Given the description of an element on the screen output the (x, y) to click on. 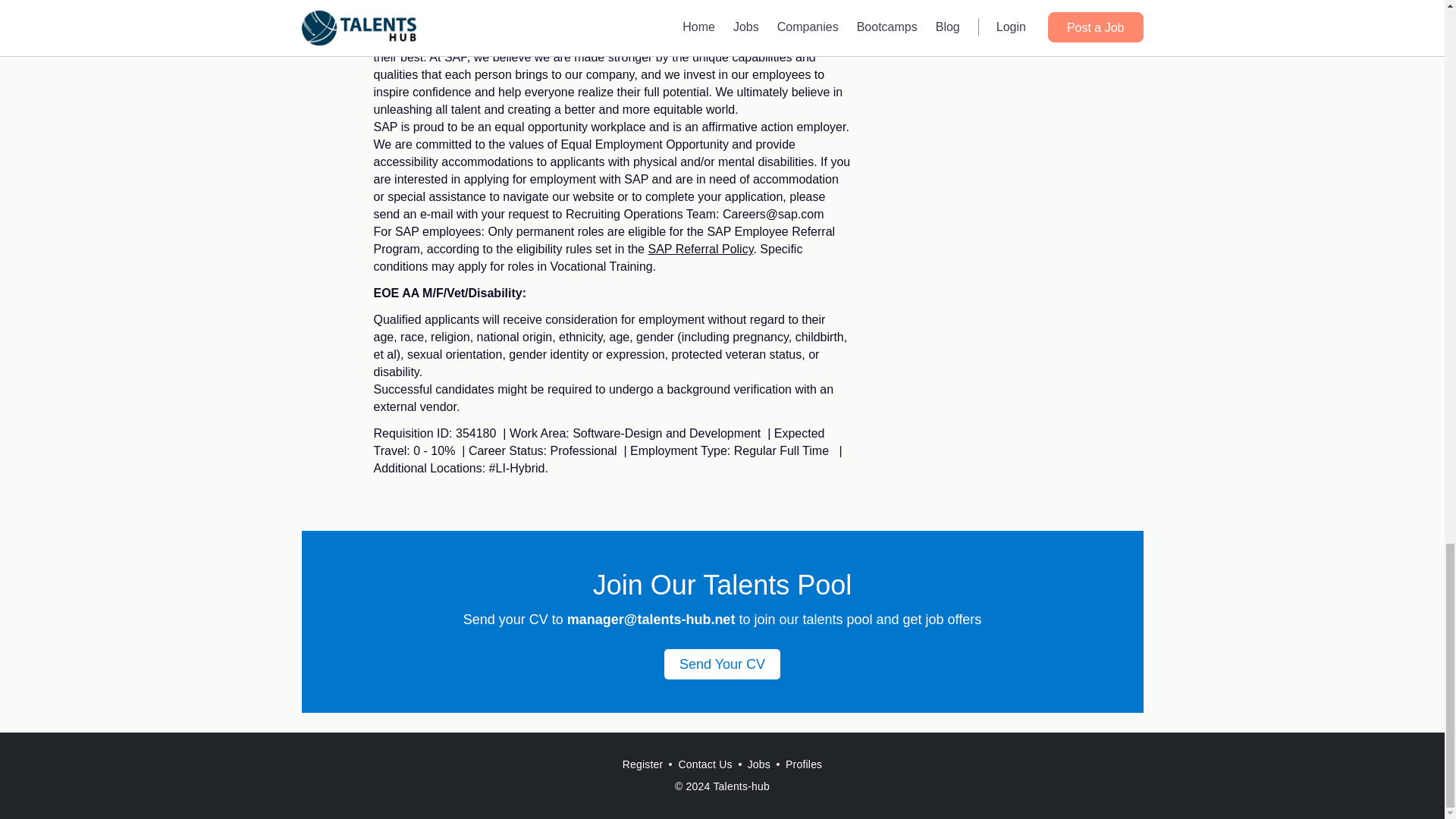
Register (642, 764)
Send Your CV (721, 664)
Profiles (803, 764)
SAP Referral Policy (699, 248)
Contact Us (704, 764)
Jobs (758, 764)
